Given the description of an element on the screen output the (x, y) to click on. 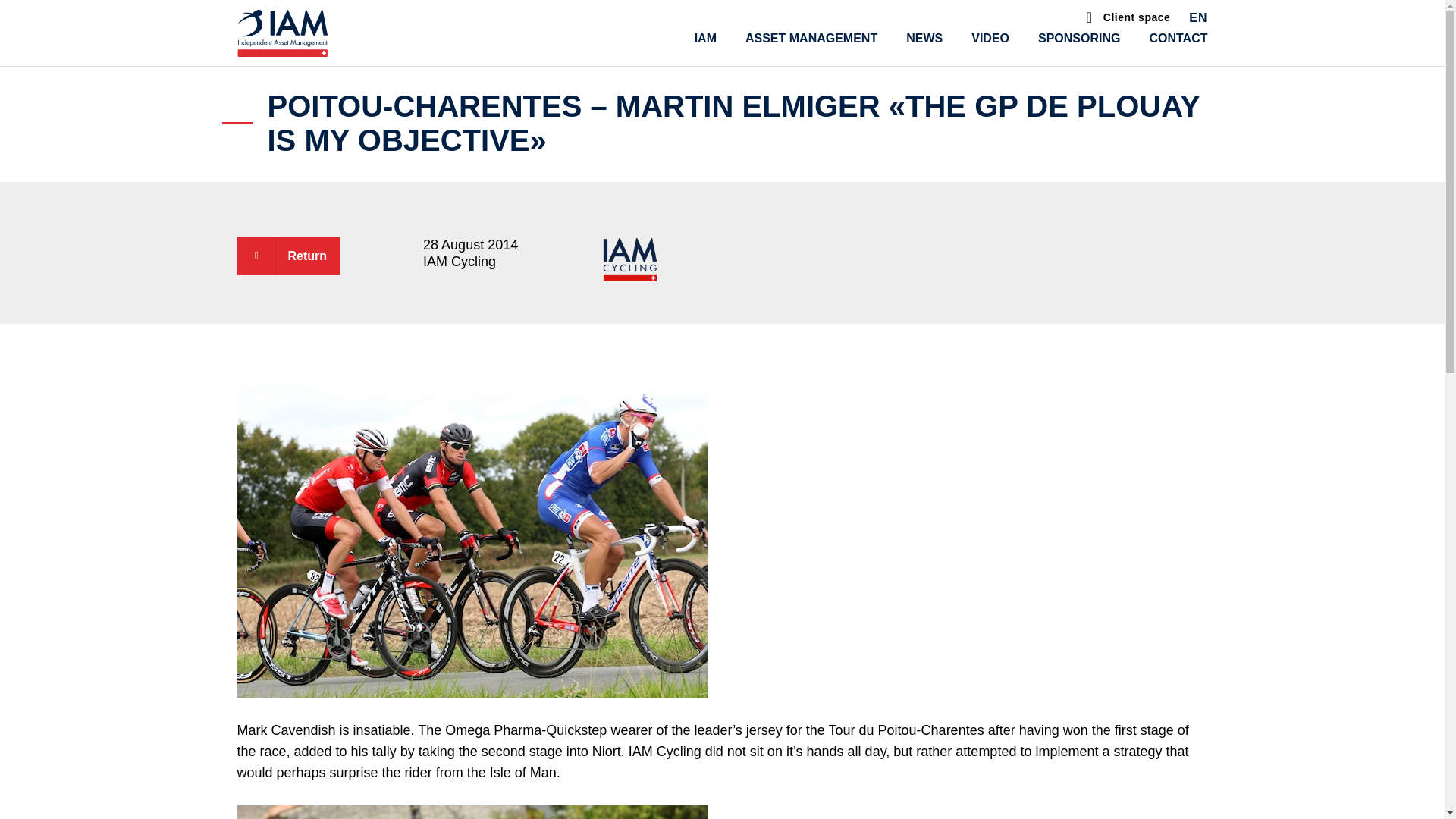
VIDEO (990, 38)
IAM (705, 38)
CONTACT (1177, 38)
SPONSORING (1078, 38)
ASSET MANAGEMENT (811, 38)
Return (287, 255)
NEWS (923, 38)
EN (1198, 19)
